Given the description of an element on the screen output the (x, y) to click on. 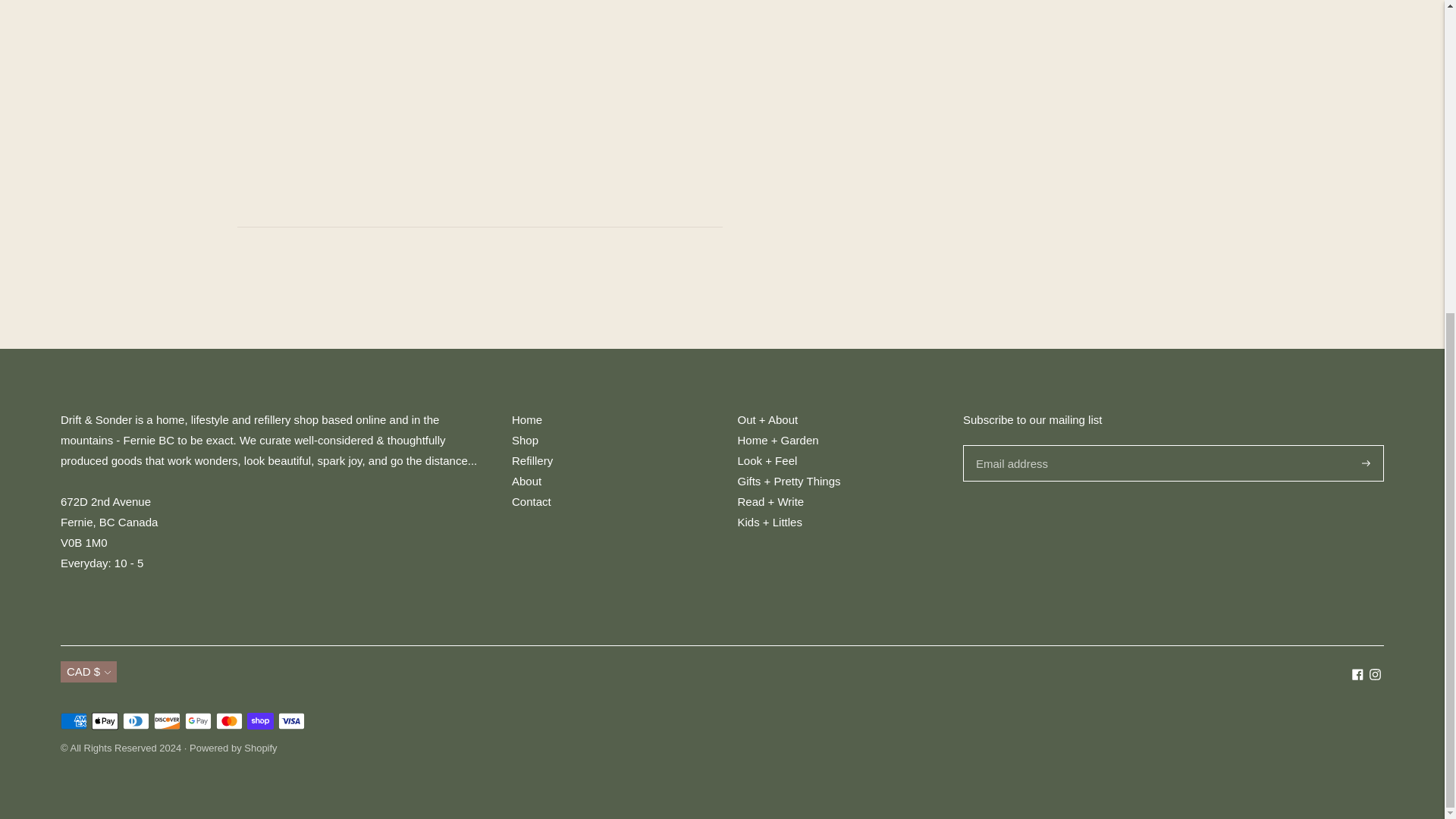
Diners Club (135, 720)
Shop Pay (260, 720)
Mastercard (229, 720)
Discover (167, 720)
American Express (74, 720)
Apple Pay (104, 720)
Google Pay (197, 720)
Visa (291, 720)
